Given the description of an element on the screen output the (x, y) to click on. 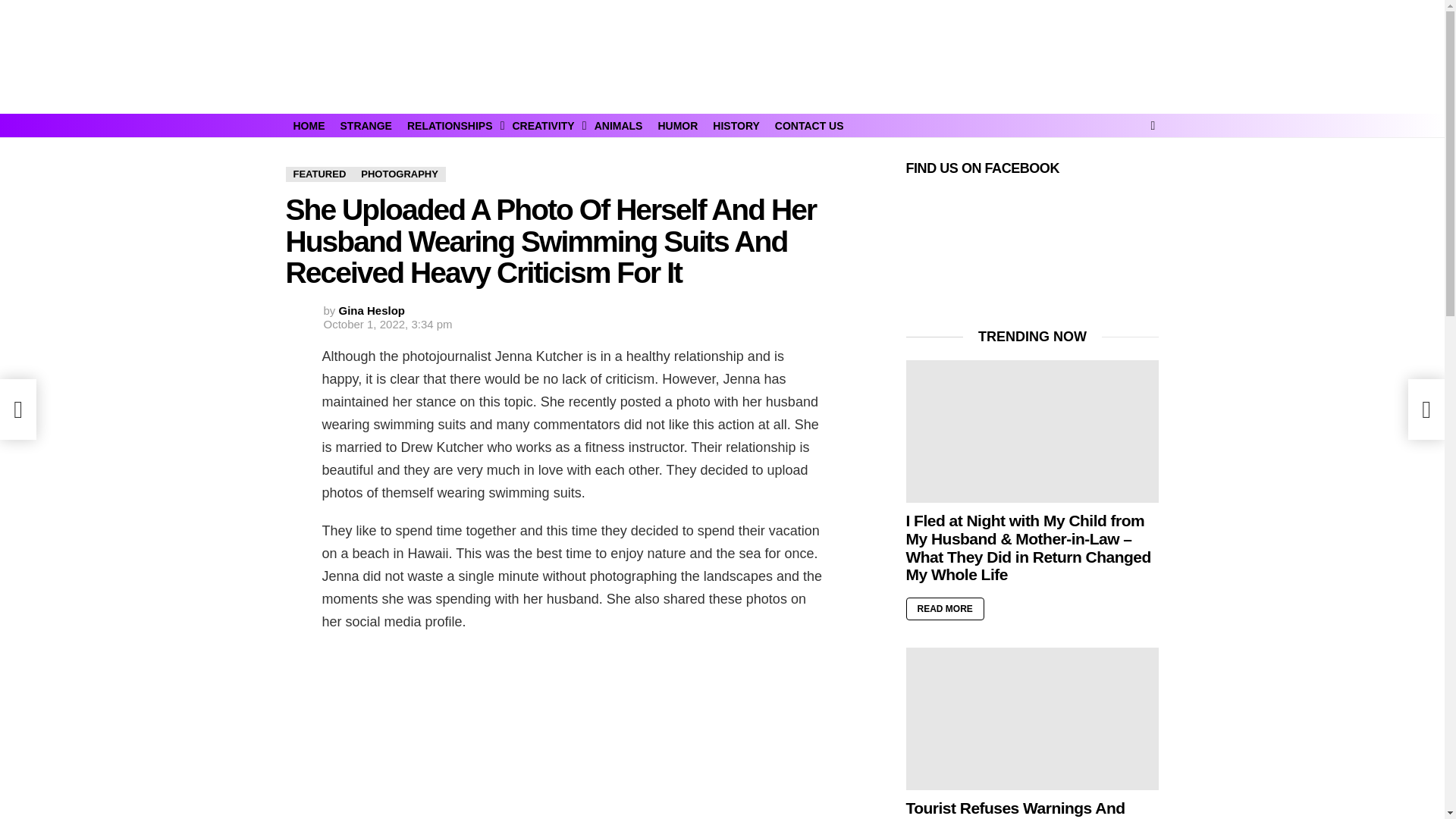
PHOTOGRAPHY (399, 174)
RELATIONSHIPS (451, 125)
READ MORE (944, 608)
STRANGE (364, 125)
HOME (308, 125)
CONTACT US (809, 125)
Posts by Gina Heslop (372, 309)
FEATURED (319, 174)
Gina Heslop (372, 309)
ANIMALS (618, 125)
CREATIVITY (544, 125)
HUMOR (676, 125)
HISTORY (735, 125)
